Given the description of an element on the screen output the (x, y) to click on. 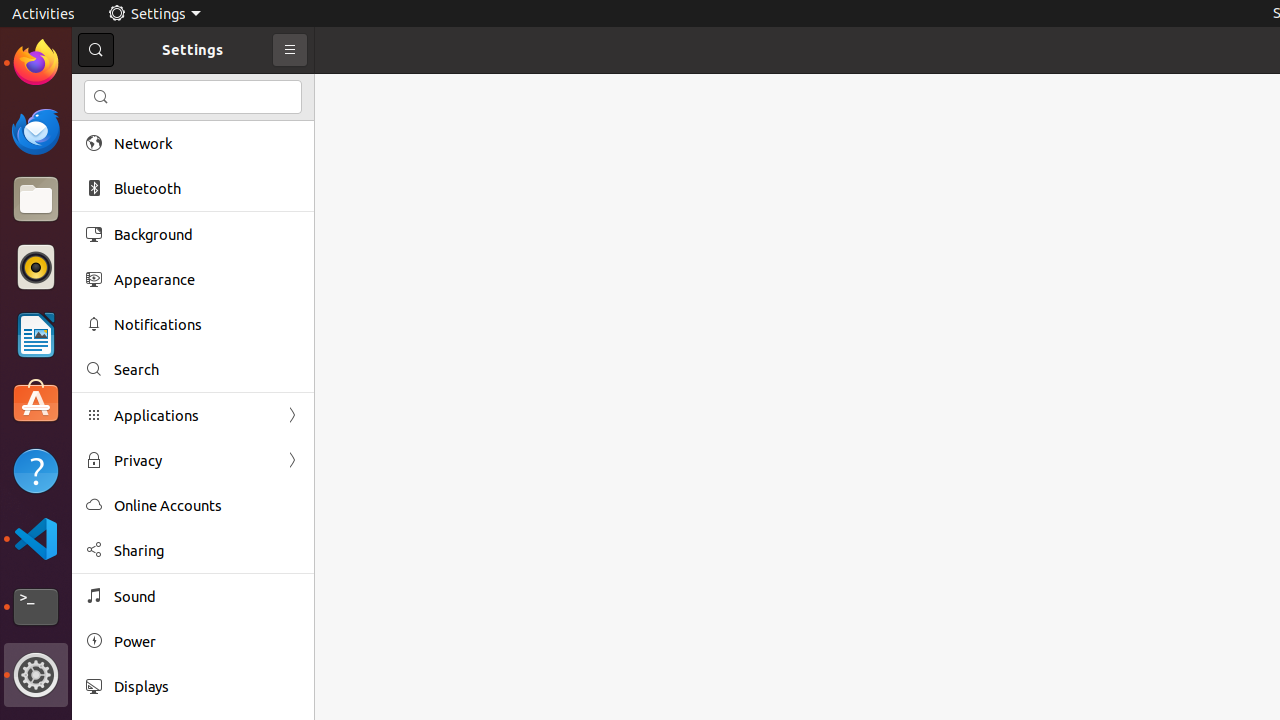
edit-find-symbolic Element type: icon (101, 97)
Sharing Element type: label (207, 550)
Applications Element type: label (193, 415)
Sound Element type: label (207, 596)
